Given the description of an element on the screen output the (x, y) to click on. 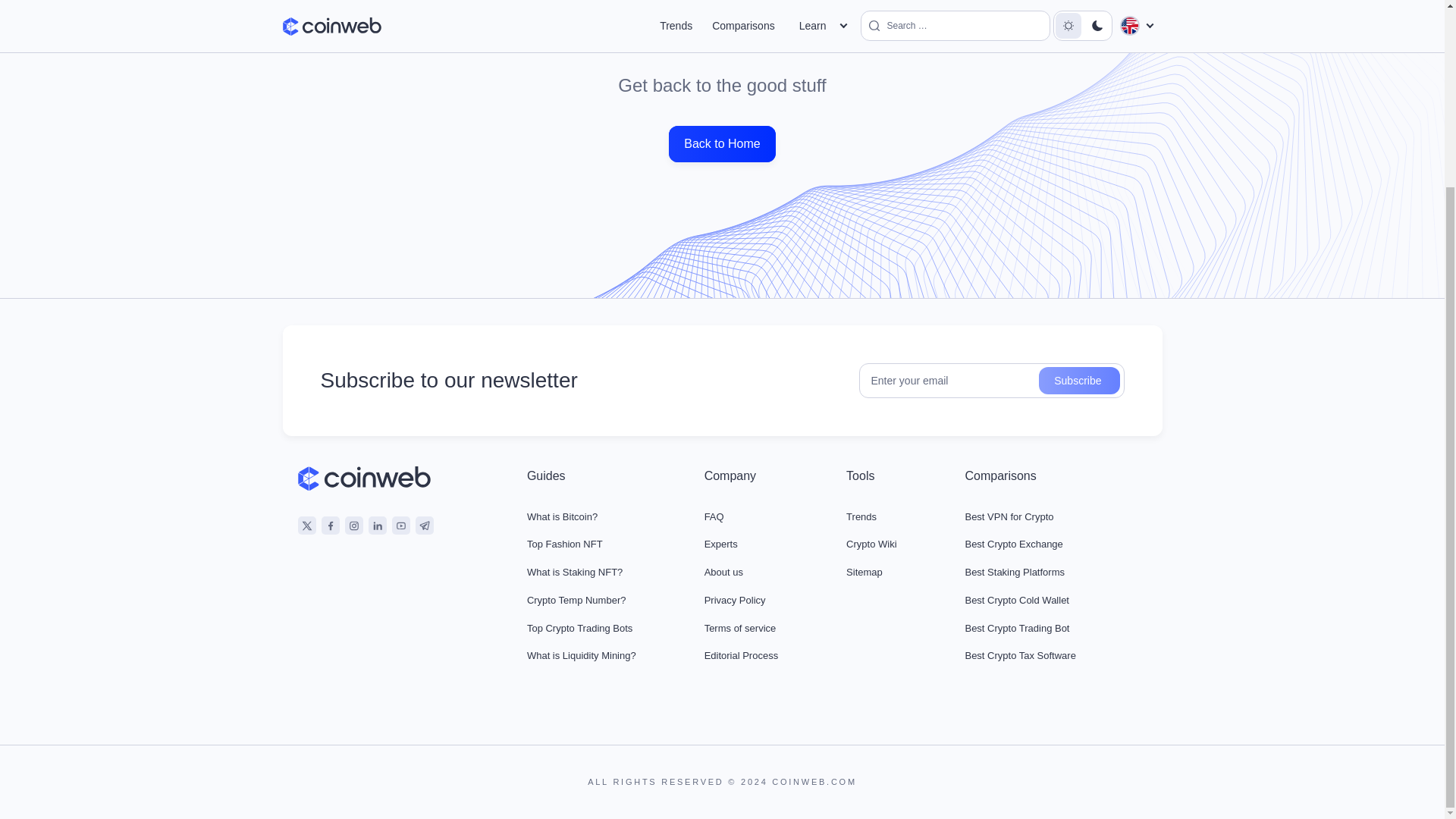
Back to Home (721, 144)
Subscribe (1079, 379)
Subscribe (1079, 379)
